Given the description of an element on the screen output the (x, y) to click on. 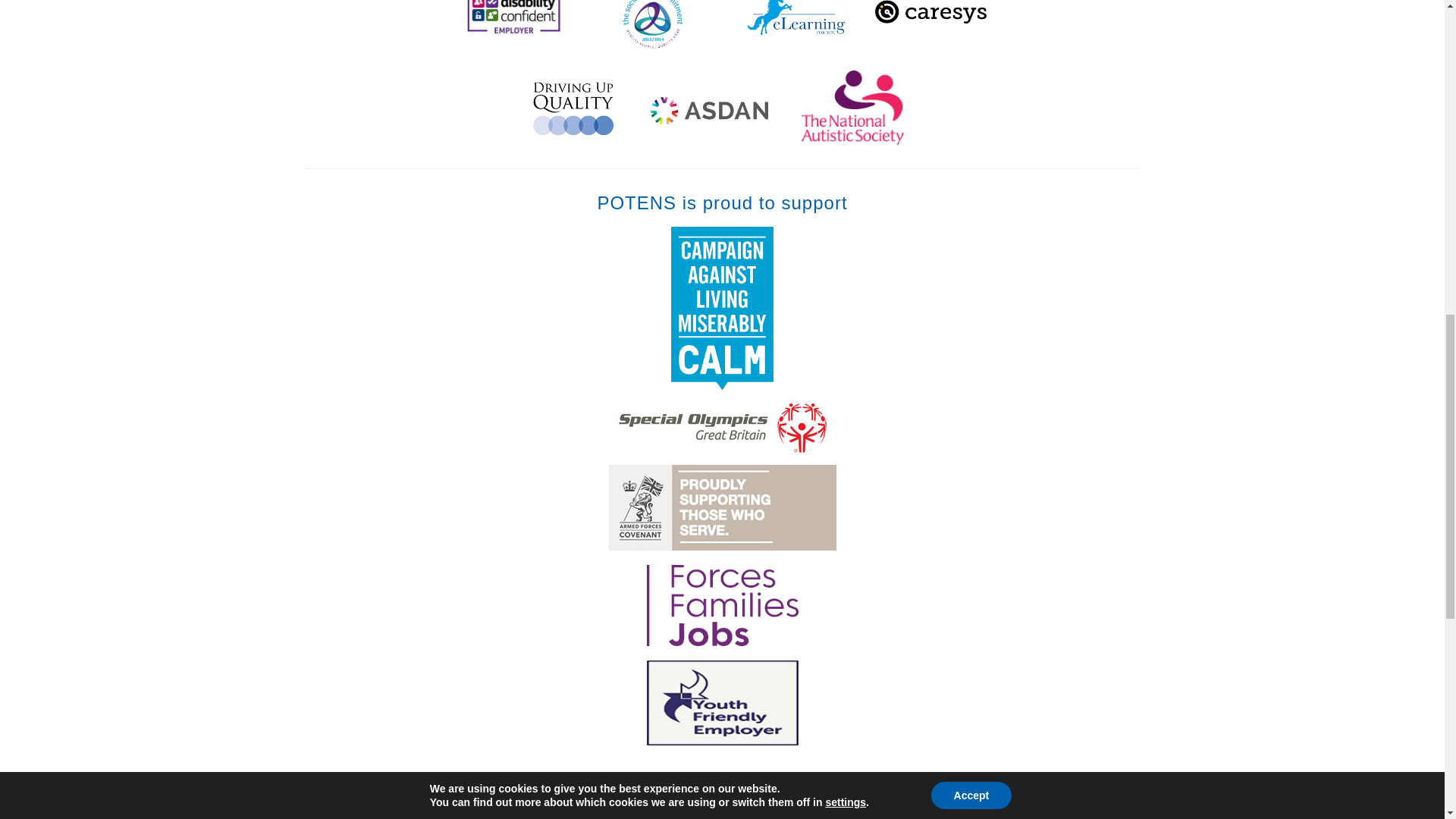
Driving Up Quality (574, 138)
ASDAN (705, 138)
Campaign Against Living Miserably - CALM (722, 386)
NAS (852, 138)
